Given the description of an element on the screen output the (x, y) to click on. 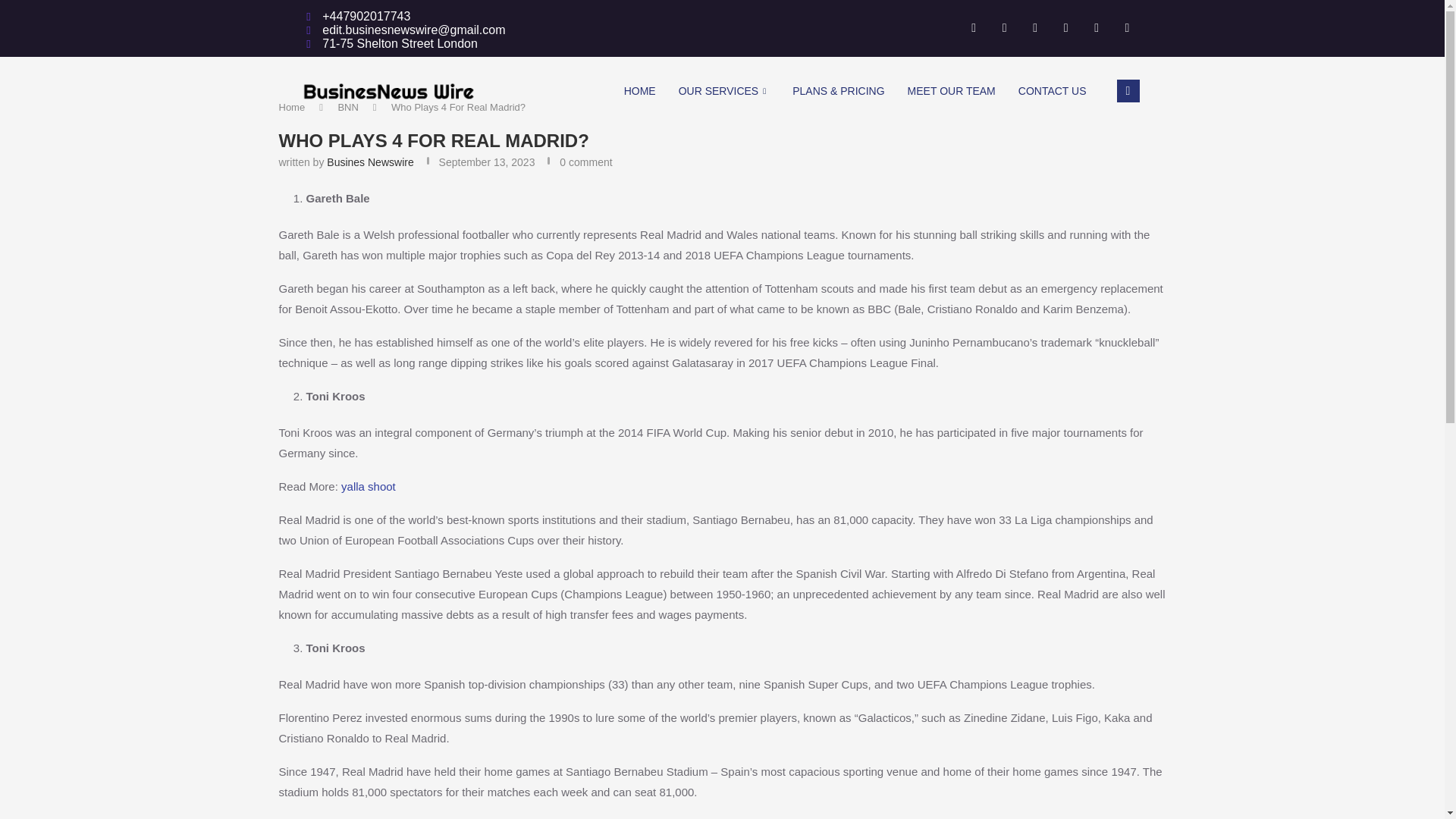
HOME (639, 90)
Busines Newswire (369, 162)
OUR SERVICES (723, 90)
MEET OUR TEAM (951, 90)
BNN (347, 107)
CONTACT US (1052, 90)
yalla shoot (368, 486)
Home (292, 107)
